Given the description of an element on the screen output the (x, y) to click on. 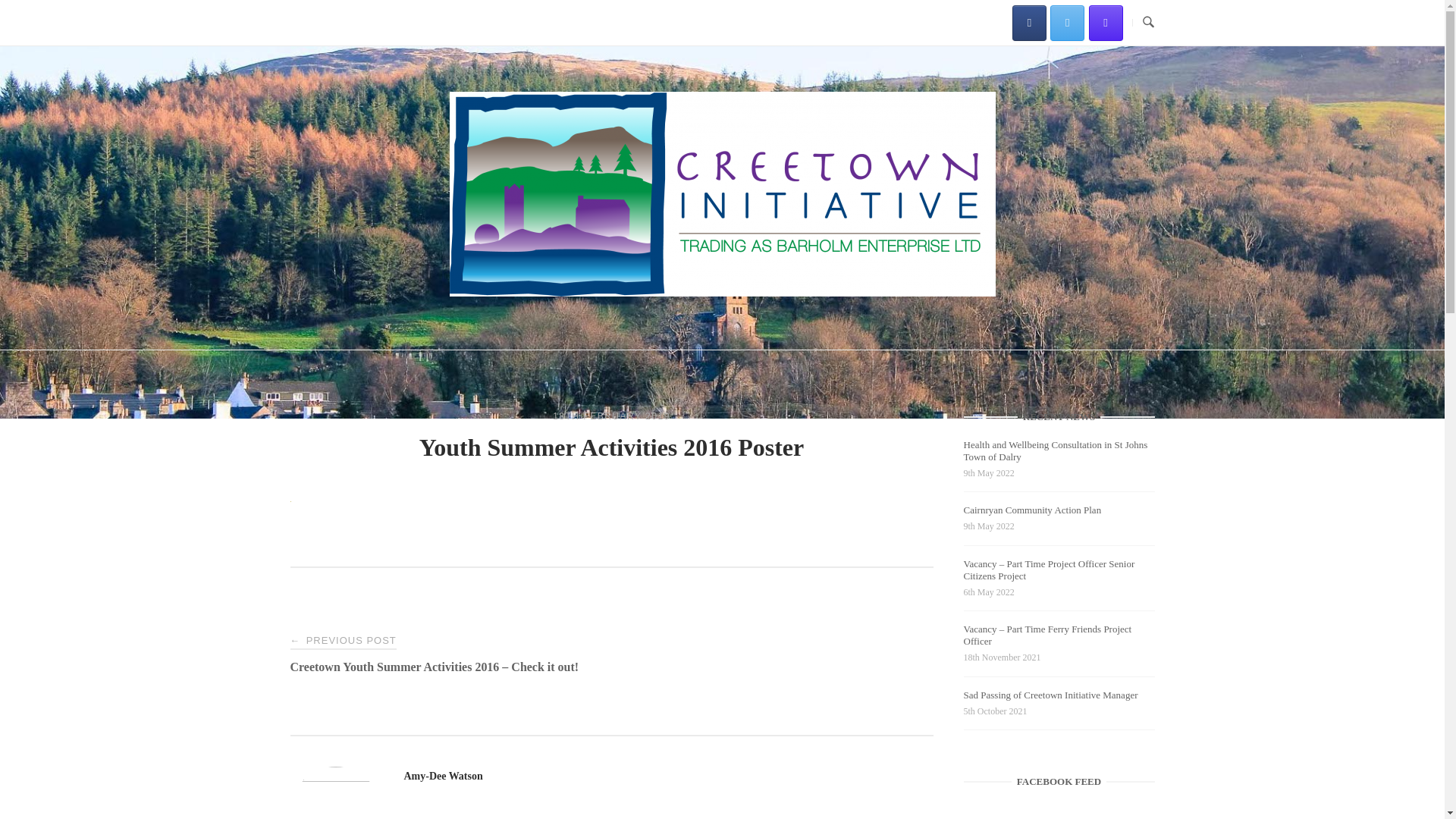
Amy-Dee Watson (442, 776)
Home (721, 292)
Creetown Initiative on Facebook (1028, 22)
Sad Passing of Creetown Initiative Manager (1050, 697)
Health and Wellbeing Consultation in St Johns Town of Dalry (1055, 452)
Cairnryan Community Action Plan (1032, 512)
Creetown Initiative on Vimeo Square (1105, 22)
Creetown Initiative on X Twitter (1066, 22)
